Given the description of an element on the screen output the (x, y) to click on. 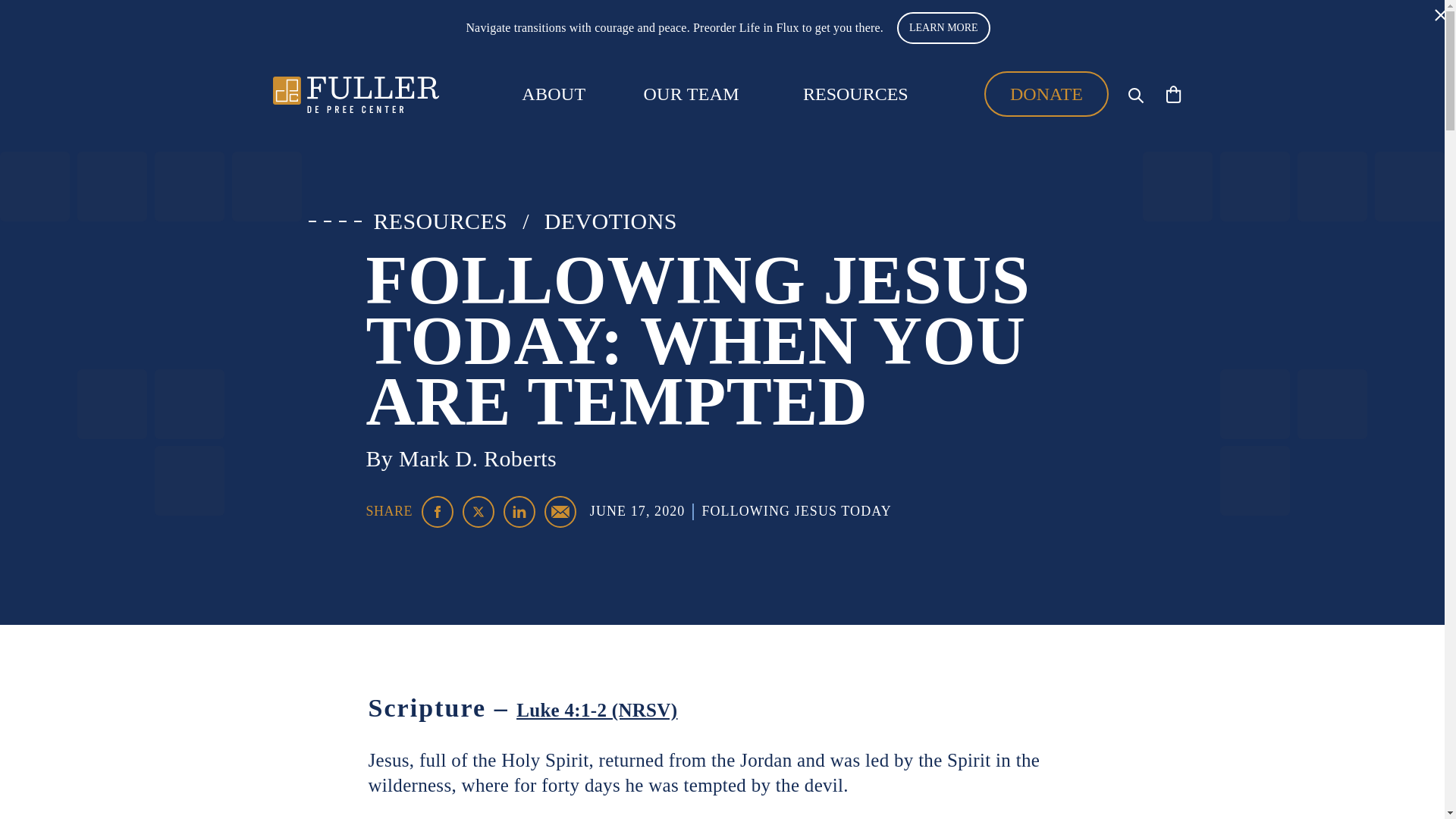
De Pree Center (356, 94)
RESOURCES (855, 93)
OUR TEAM (691, 94)
ABOUT (552, 94)
FOLLOWING JESUS TODAY (796, 511)
RESOURCES (439, 221)
Return to Homepage (356, 94)
DEVOTIONS (610, 221)
LEARN MORE (943, 28)
DONATE (1046, 94)
